Given the description of an element on the screen output the (x, y) to click on. 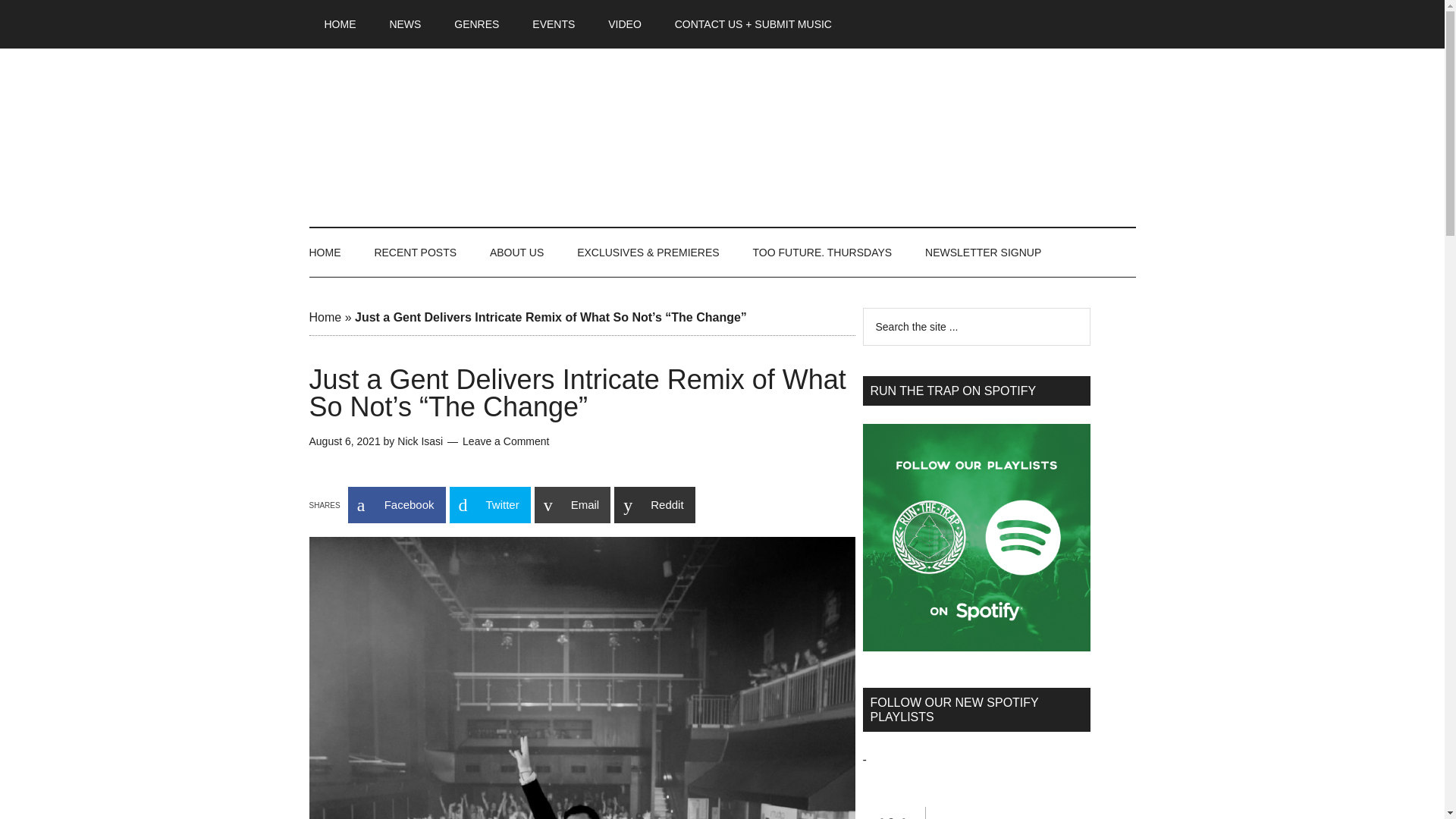
HOME (332, 252)
Twitter (488, 504)
Share on Facebook (396, 504)
NEWS (404, 24)
GENRES (476, 24)
ABOUT US (516, 252)
Facebook (396, 504)
Share on Twitter (488, 504)
